Given the description of an element on the screen output the (x, y) to click on. 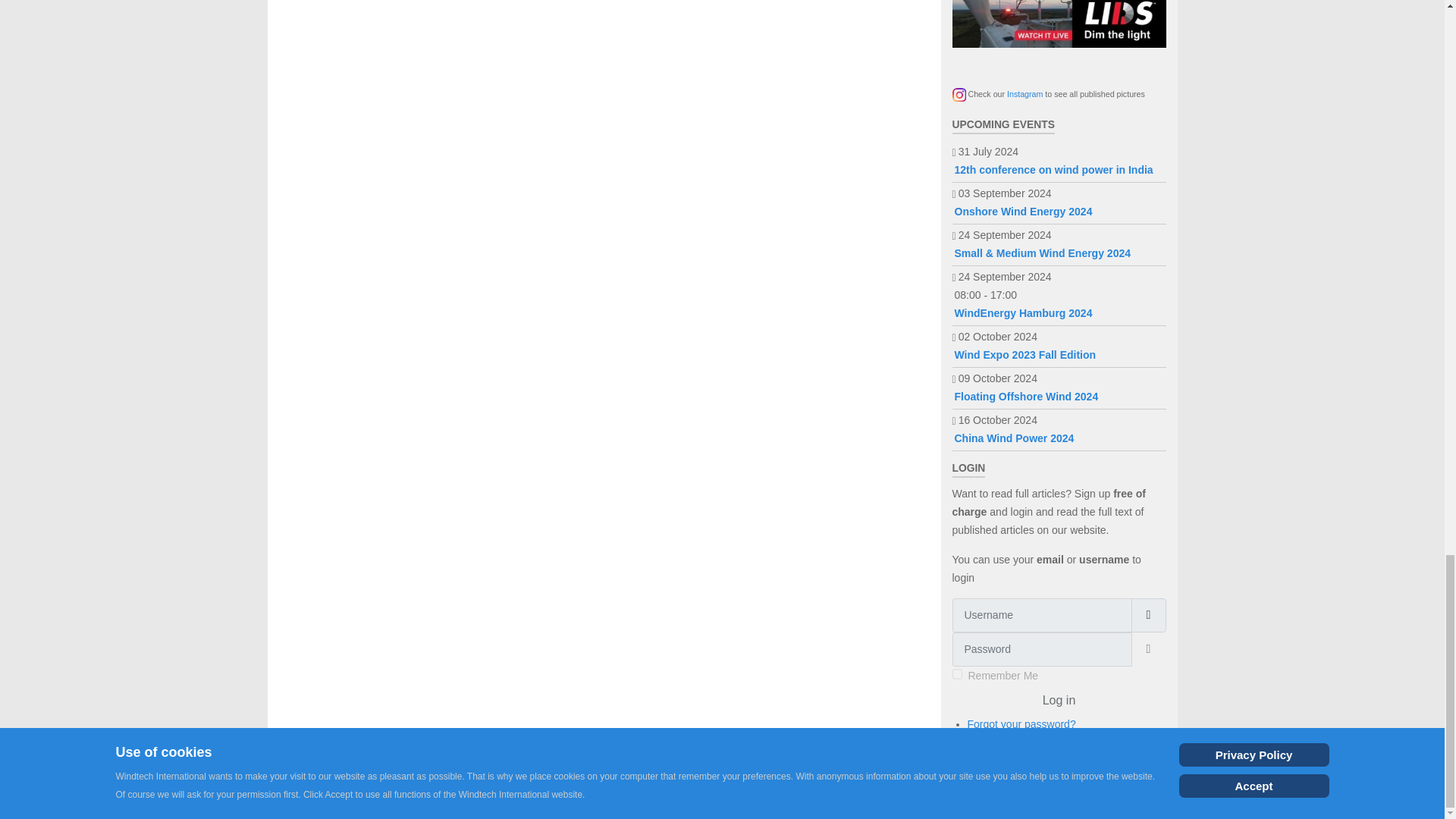
yes (957, 674)
Username (1148, 615)
